Given the description of an element on the screen output the (x, y) to click on. 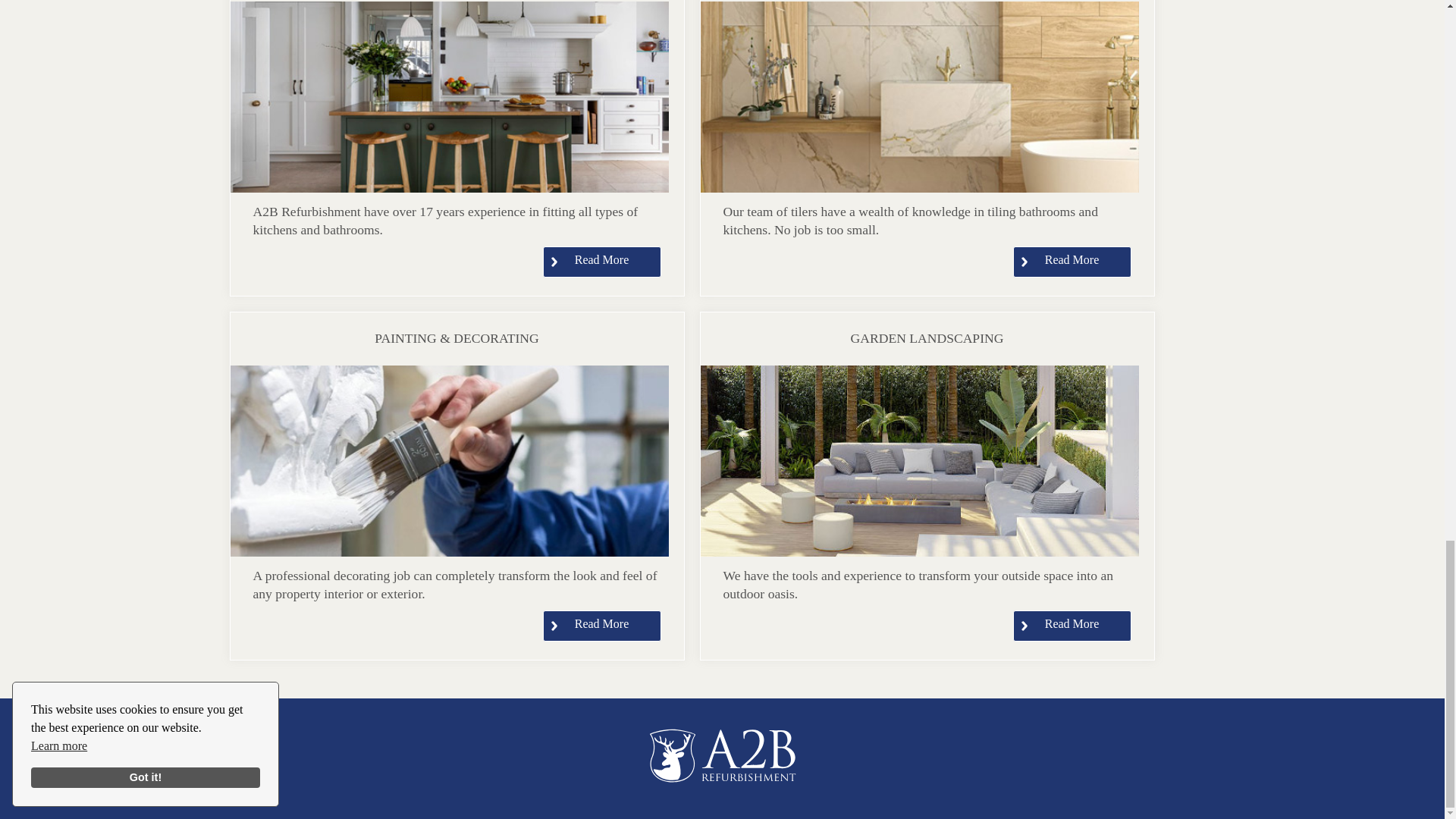
Read More (1072, 625)
Read More (602, 261)
Read More (602, 625)
Read More (1072, 261)
